Given the description of an element on the screen output the (x, y) to click on. 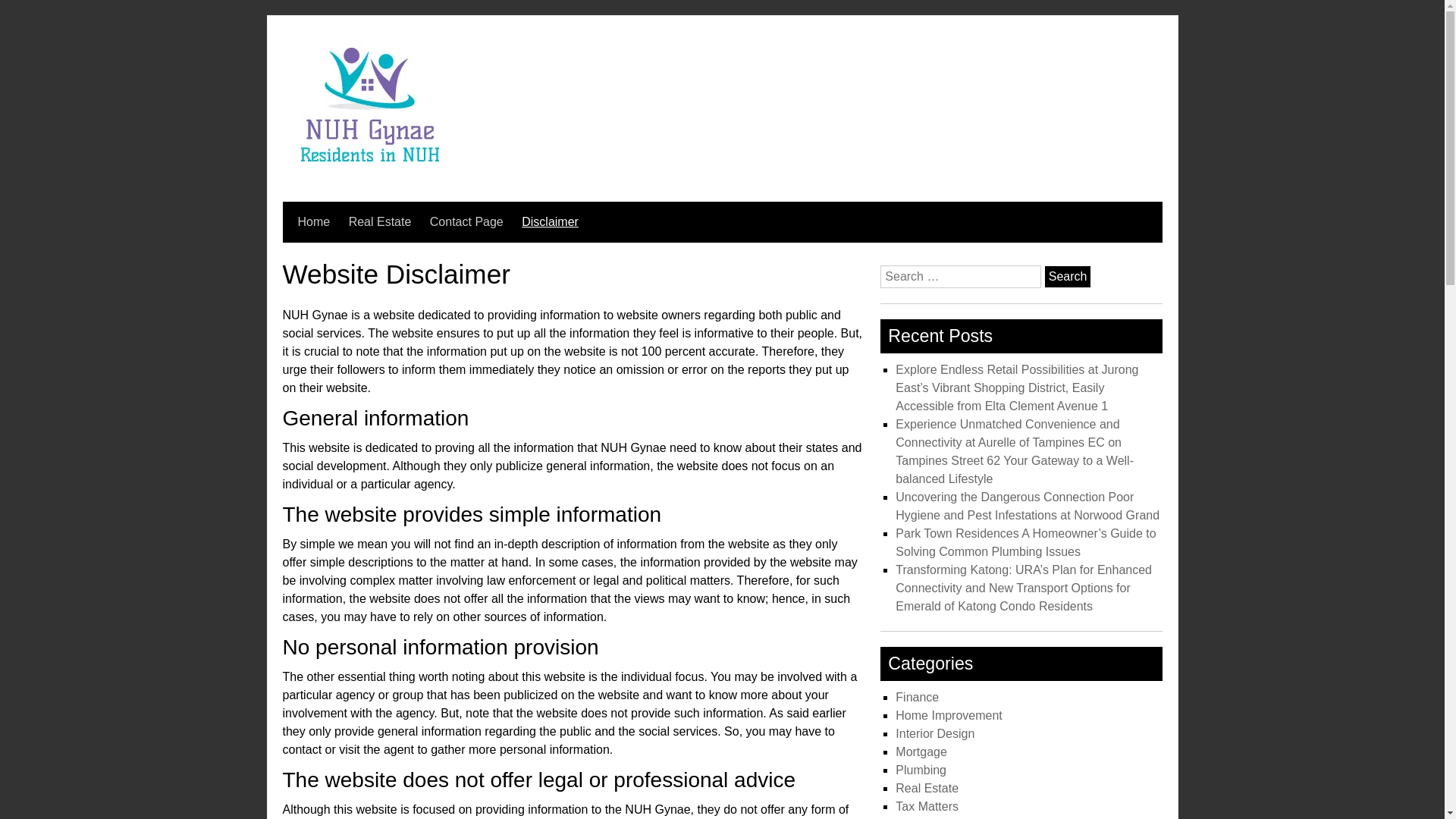
Mortgage (921, 751)
Disclaimer (549, 221)
Interior Design (934, 733)
NUH Gynaes in Singapore (372, 176)
Search (1067, 276)
Real Estate (926, 788)
Contact Page (466, 221)
Search (1067, 276)
